Given the description of an element on the screen output the (x, y) to click on. 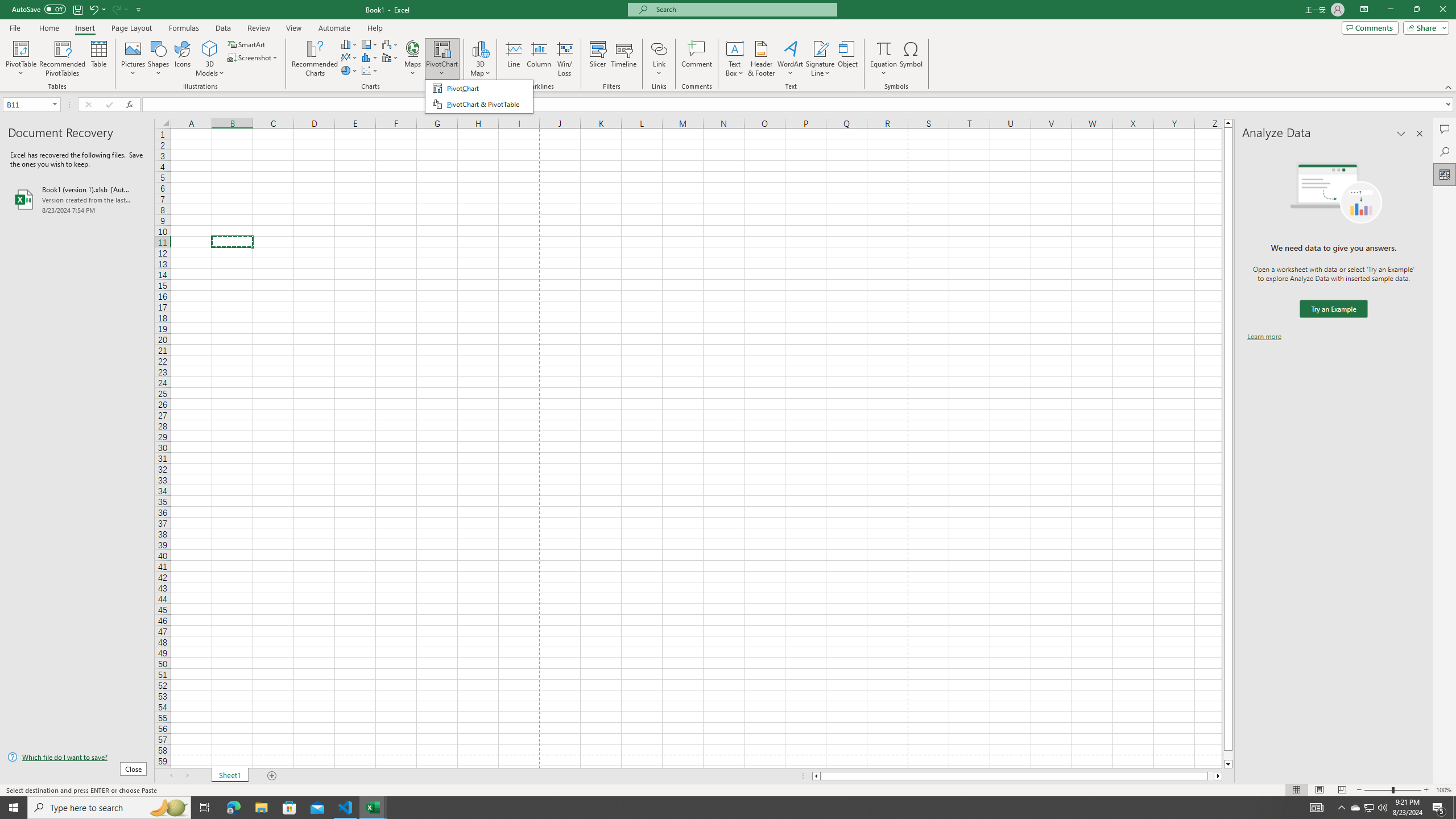
Excel - 2 running windows (373, 807)
Column (539, 58)
Comment (696, 58)
PivotTable (20, 58)
Text Box (734, 58)
Which file do I want to save? (77, 757)
Insert (83, 28)
Pictures (133, 58)
Line (513, 58)
Automate (334, 28)
More Options (883, 68)
Restore Down (1416, 9)
